Given the description of an element on the screen output the (x, y) to click on. 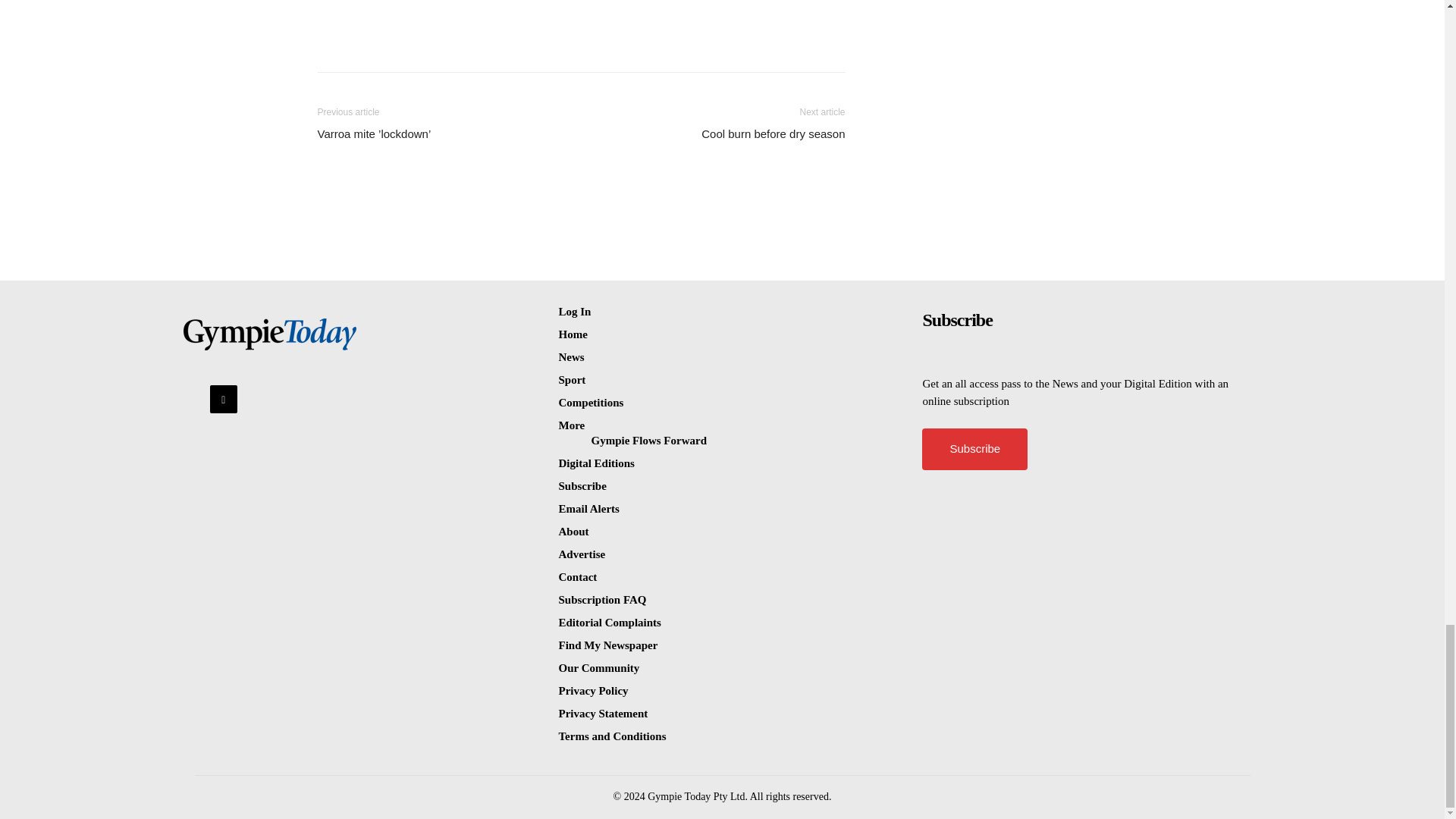
bottomFacebookLike (430, 7)
